Given the description of an element on the screen output the (x, y) to click on. 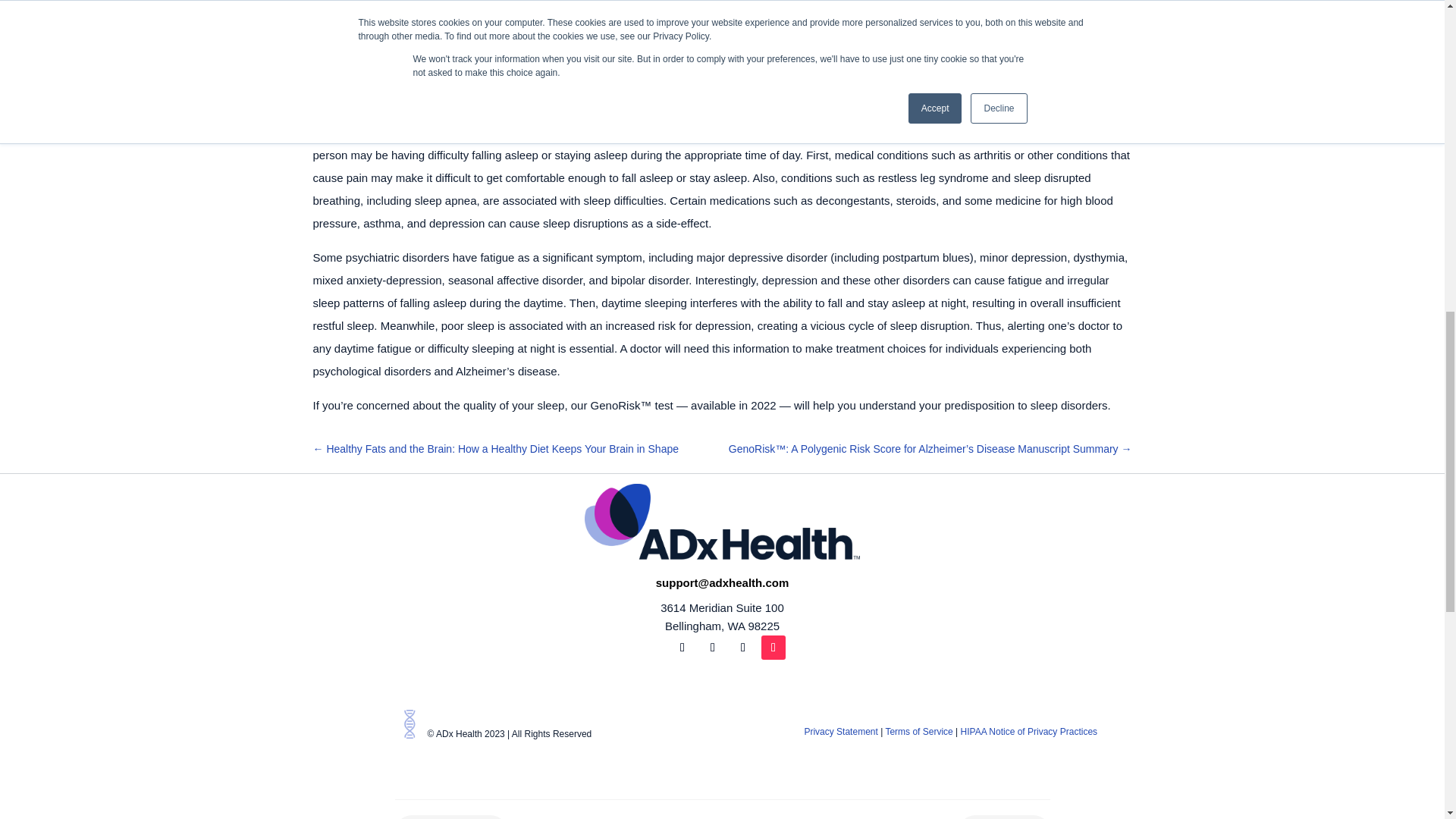
Follow on Instagram (742, 647)
Follow on TikTok (773, 647)
Follow on Facebook (681, 647)
Follow on LinkedIn (712, 647)
